Given the description of an element on the screen output the (x, y) to click on. 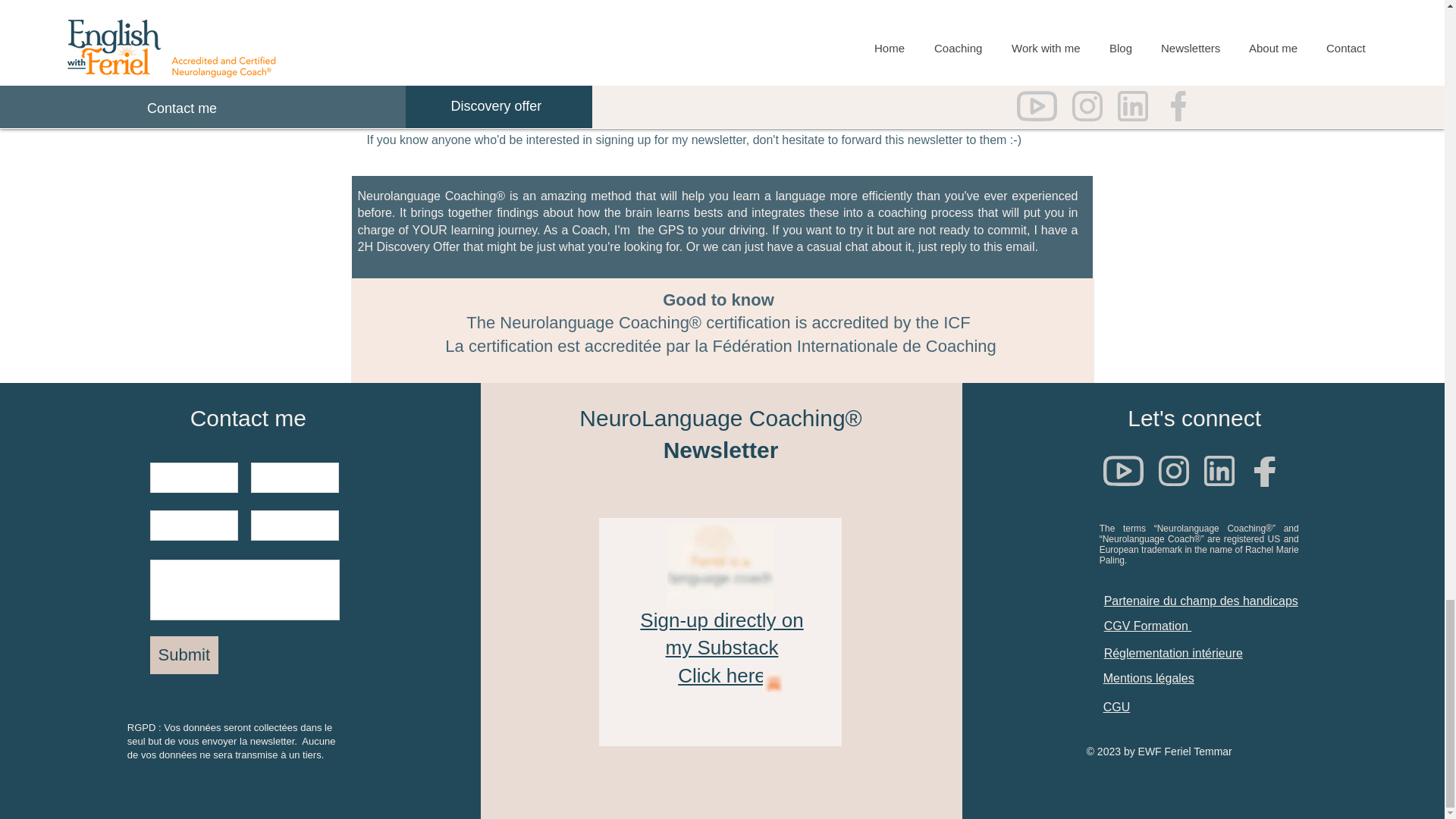
my newsletters webpage (652, 103)
Partenaire du champ des handicaps (1200, 600)
2H Discovery Offer (409, 246)
you should click here (805, 48)
Submit (183, 655)
CGV Formation  (1147, 625)
CGU (721, 648)
